Given the description of an element on the screen output the (x, y) to click on. 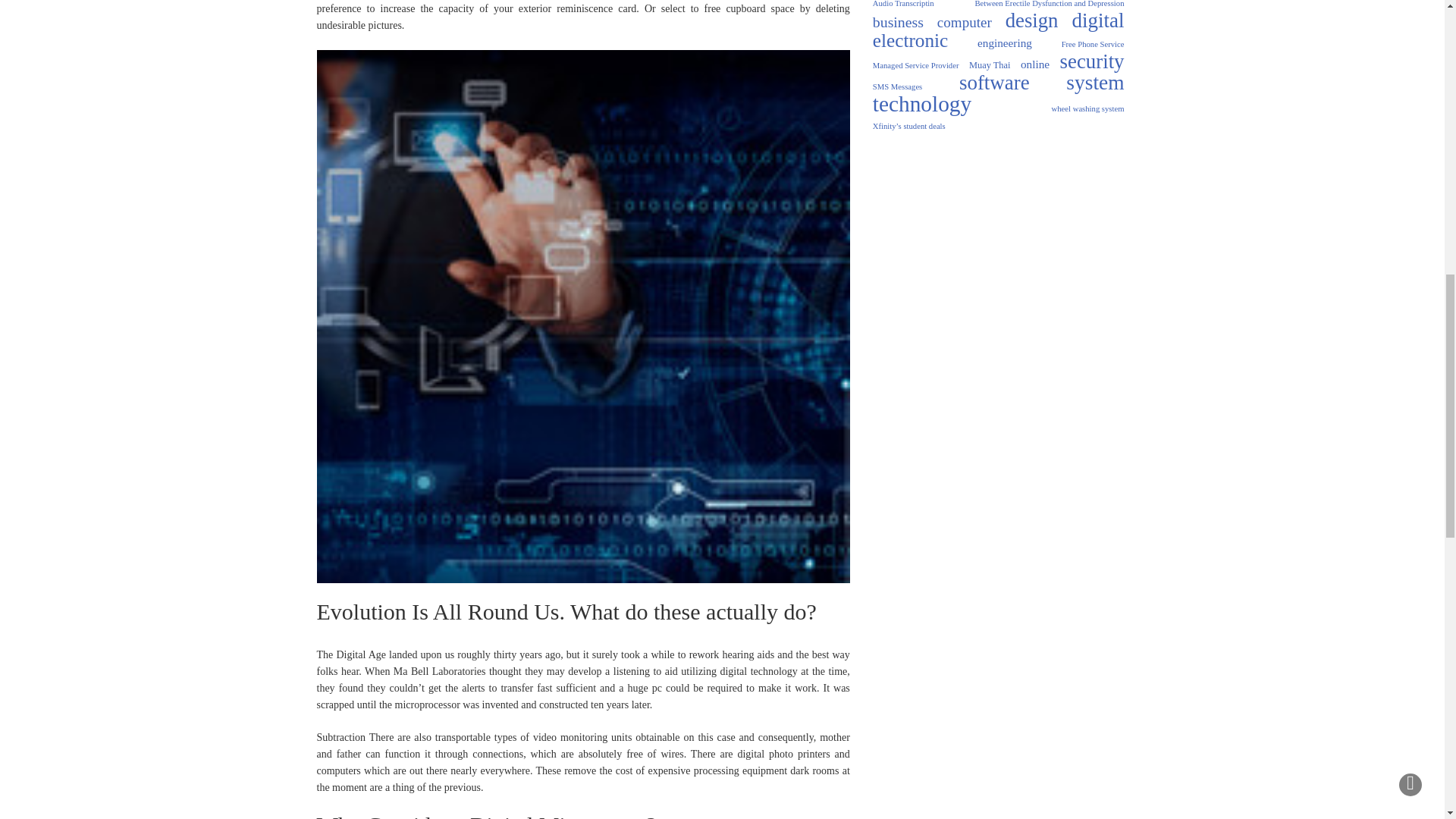
Between Erectile Dysfunction and Depression (1049, 6)
Audio Transcriptin (903, 6)
business (897, 21)
digital (1097, 20)
computer (964, 22)
design (1032, 20)
